Given the description of an element on the screen output the (x, y) to click on. 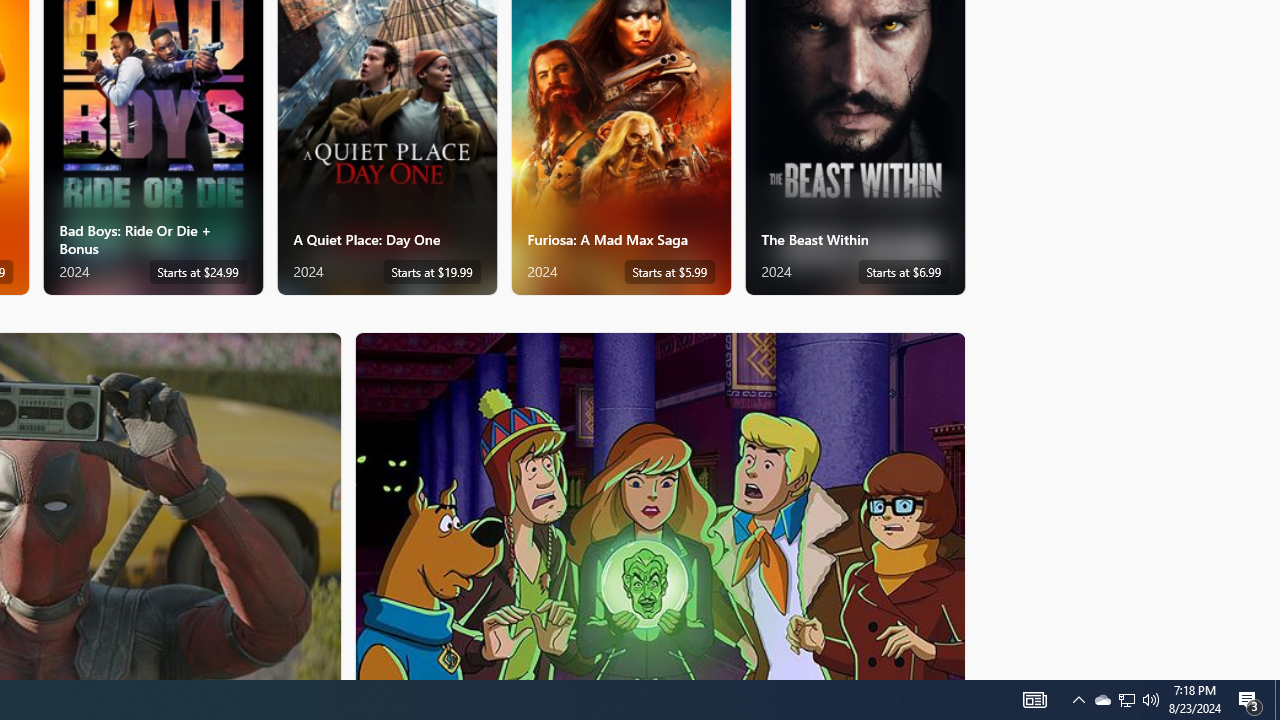
Family (660, 505)
AutomationID: PosterImage (658, 505)
